Given the description of an element on the screen output the (x, y) to click on. 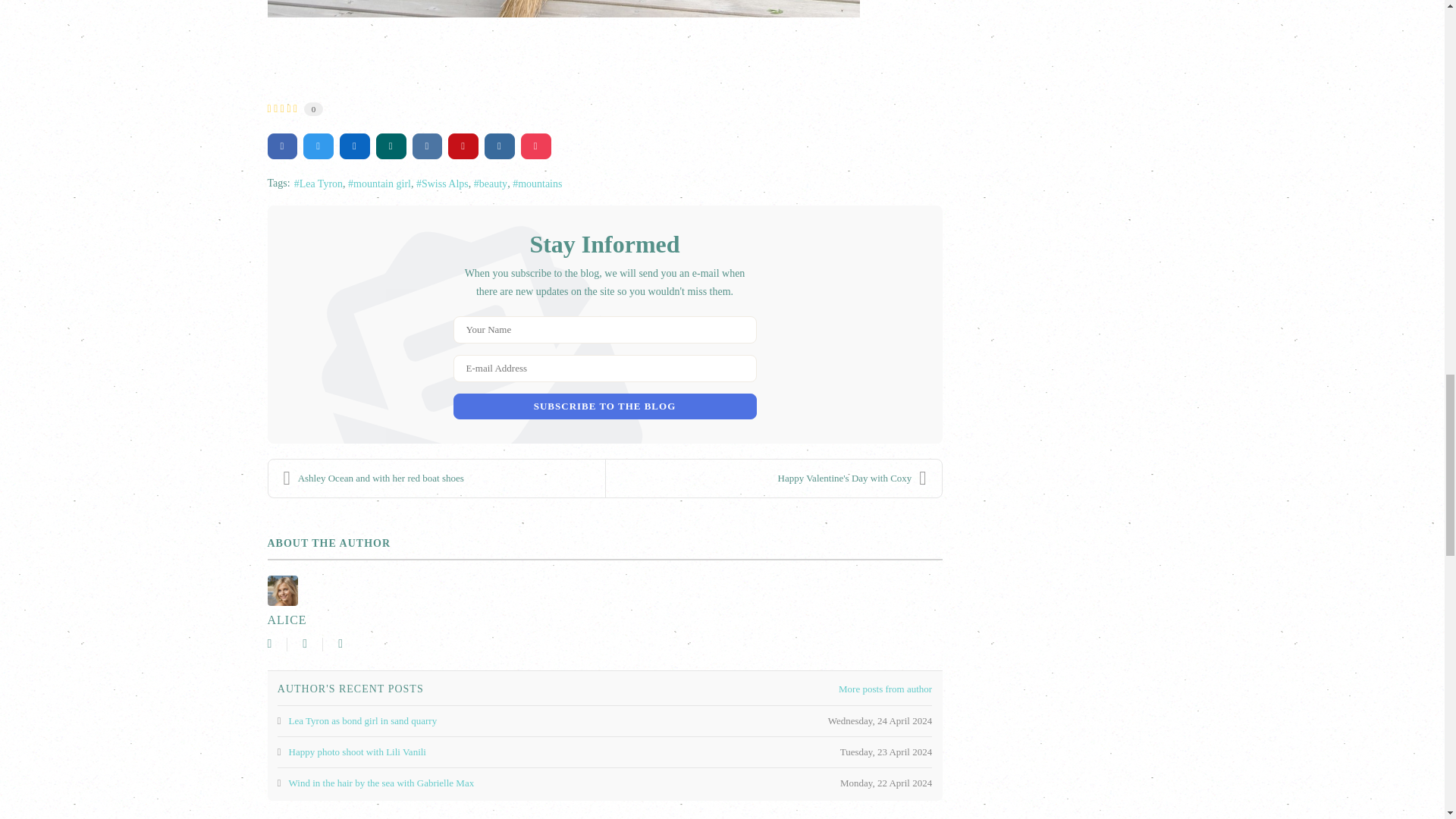
0 votes (313, 109)
Not rated yet! (281, 109)
